Given the description of an element on the screen output the (x, y) to click on. 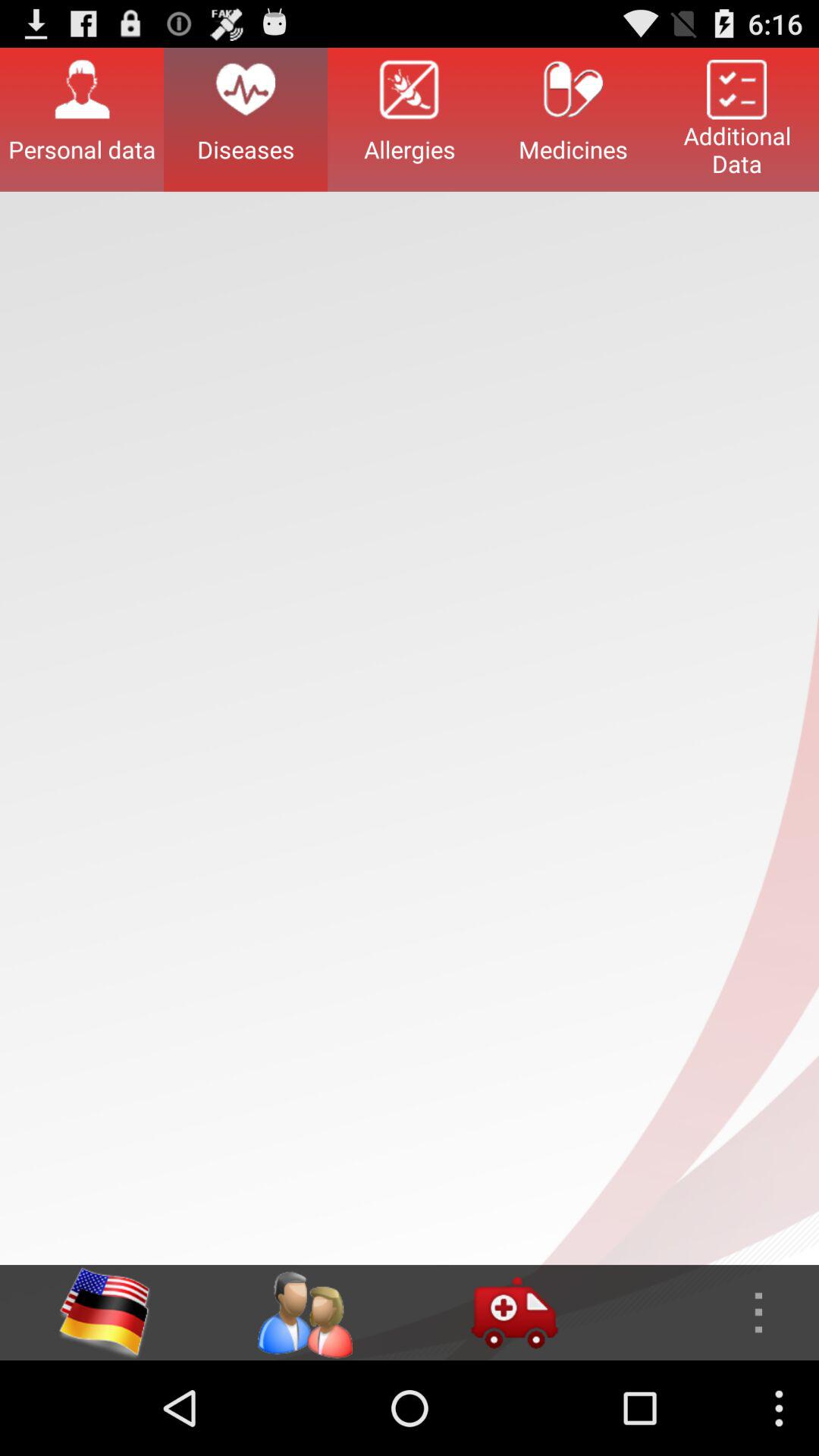
flip until diseases item (245, 119)
